Given the description of an element on the screen output the (x, y) to click on. 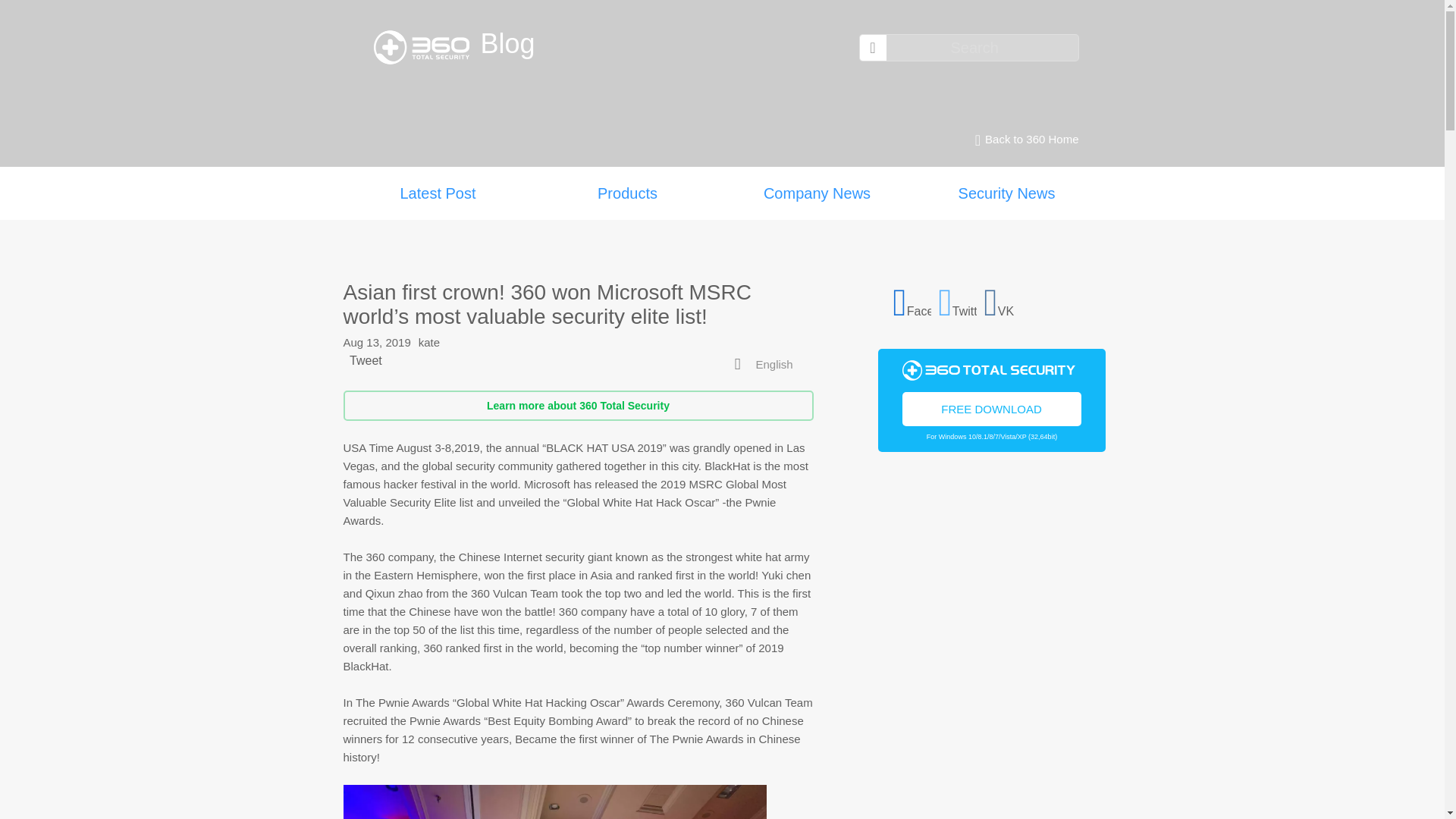
Products (627, 193)
VK (1003, 299)
Twitter (957, 299)
Free Download (991, 408)
Learn more about 360 Total Security (577, 405)
Latest Post (437, 193)
Tweet (365, 359)
FREE DOWNLOAD (991, 408)
Company News (816, 193)
Back to 360 Home (1022, 140)
Facebook (912, 299)
Security News (1005, 193)
Learn more about 360 Total Security (577, 405)
360 Total Security Blog Logo (426, 47)
